Given the description of an element on the screen output the (x, y) to click on. 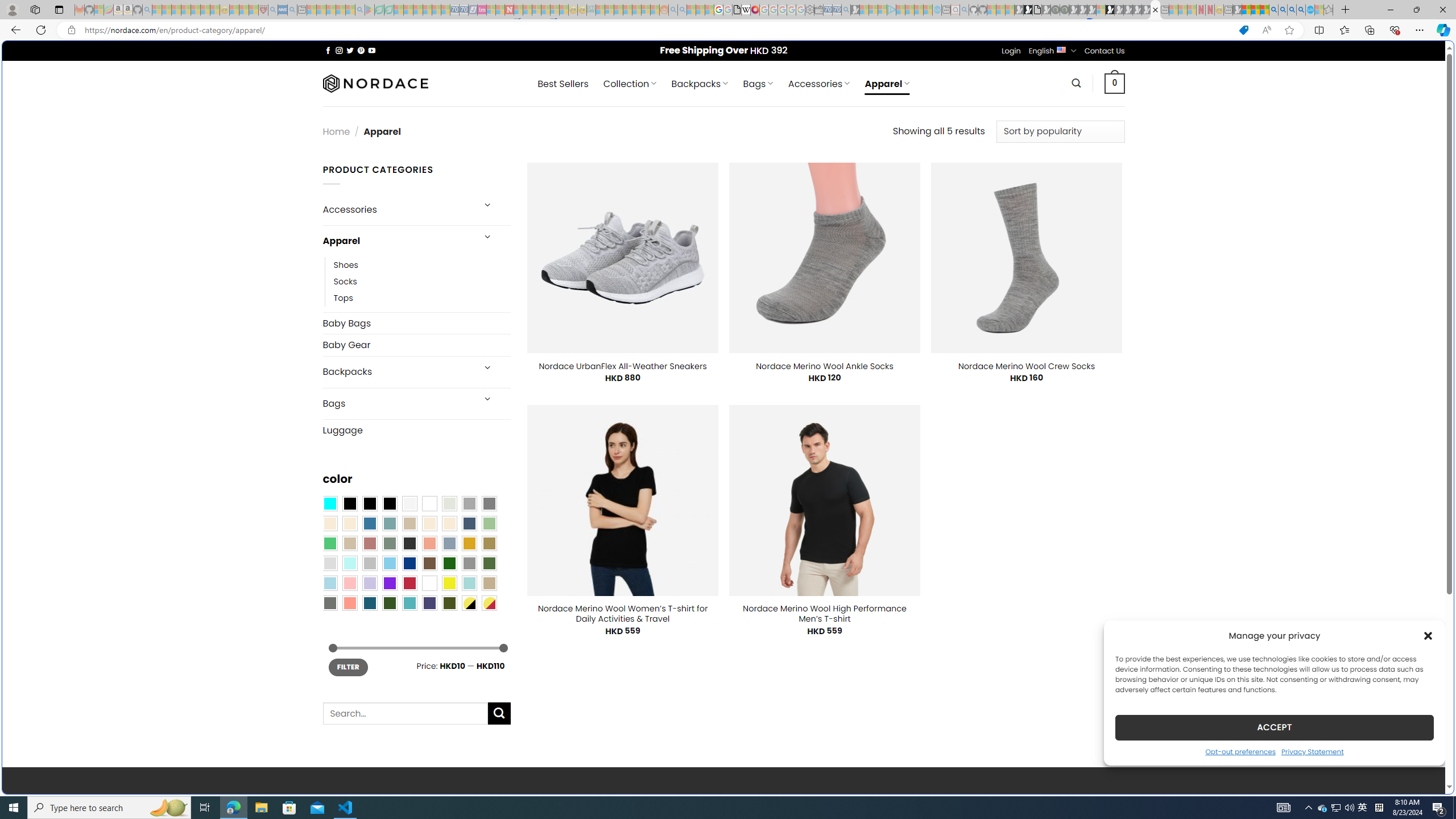
Opt-out preferences (1240, 750)
Nordace - Apparel (1154, 9)
Tops (343, 297)
Play Zoo Boom in your browser | Games from Microsoft Start (1027, 9)
google_privacy_policy_zh-CN.pdf (736, 9)
google_privacy_policy_zh-CN.pdf (1118, 683)
Brownie (408, 522)
Shoes (422, 264)
